Given the description of an element on the screen output the (x, y) to click on. 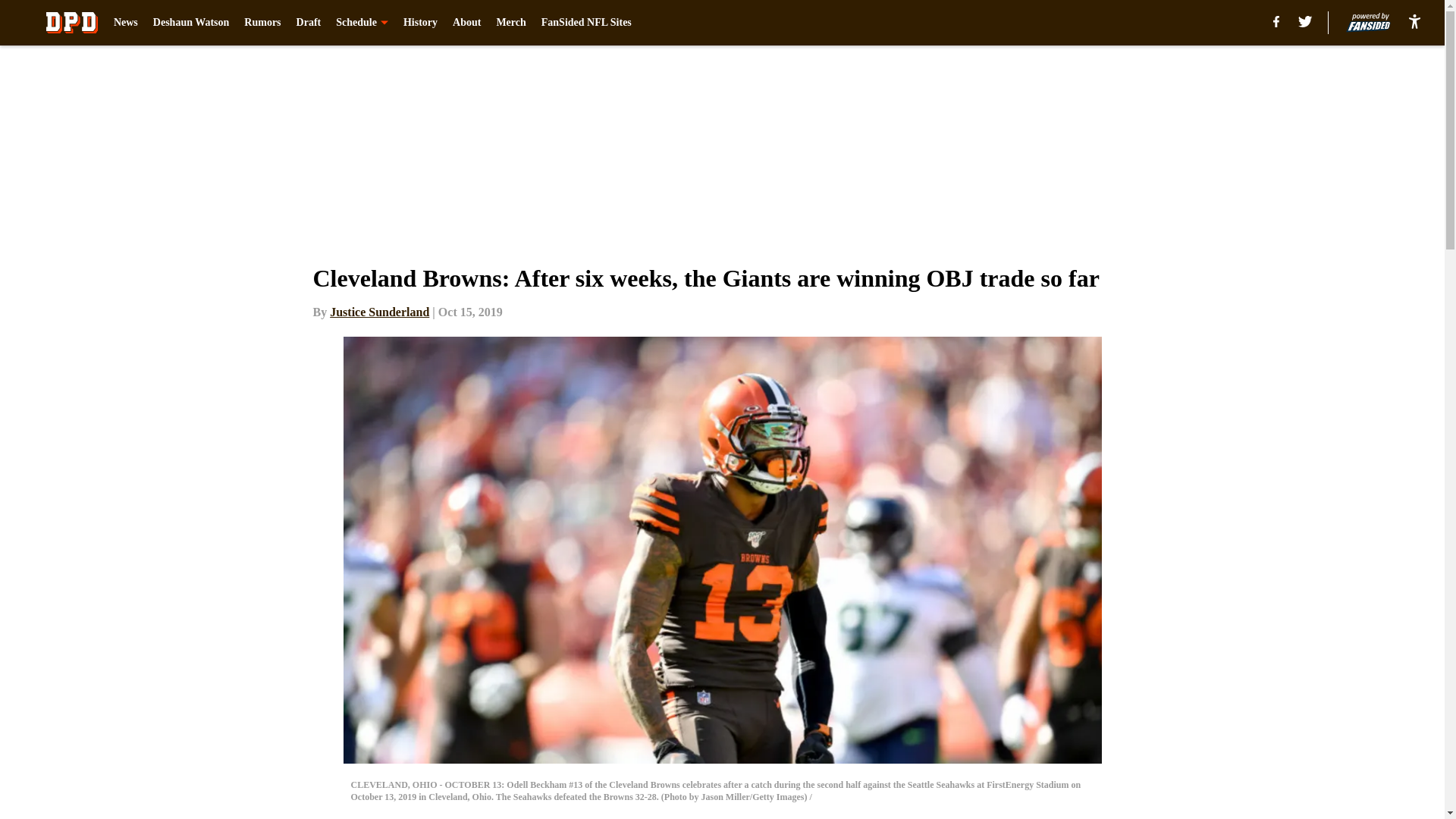
FanSided NFL Sites (586, 22)
Rumors (262, 22)
News (125, 22)
Draft (309, 22)
Merch (510, 22)
Justice Sunderland (379, 311)
About (466, 22)
Deshaun Watson (191, 22)
History (420, 22)
